Given the description of an element on the screen output the (x, y) to click on. 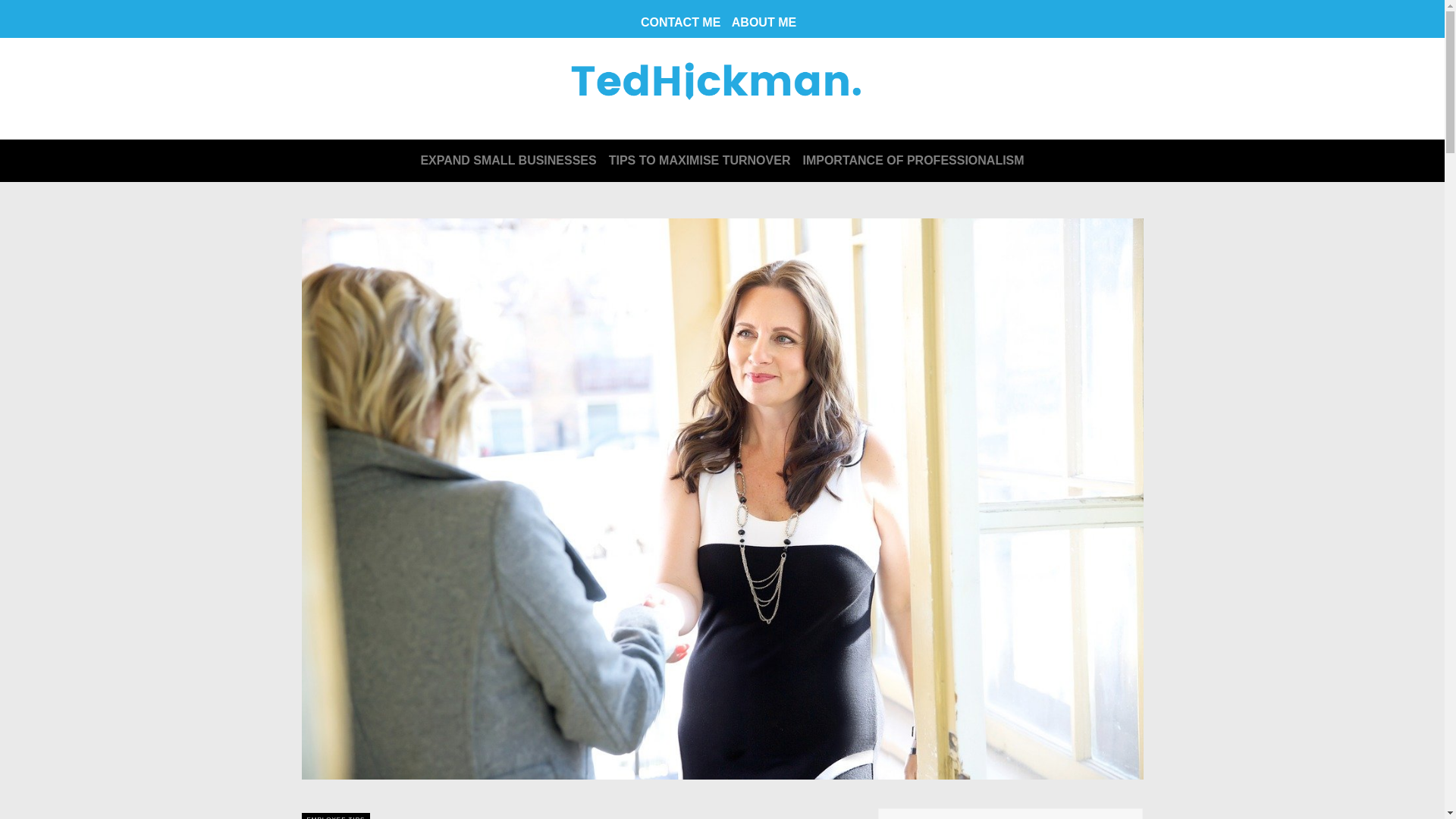
TIPS TO MAXIMISE TURNOVER (699, 160)
EMPLOYEE TIPS (335, 817)
Tips to Maximise Turnover (699, 160)
Expand Small Businesses (507, 160)
EXPAND SMALL BUSINESSES (507, 160)
CONTACT ME (680, 21)
IMPORTANCE OF PROFESSIONALISM (912, 160)
Importance of Professionalism (912, 160)
ABOUT ME (764, 21)
